Given the description of an element on the screen output the (x, y) to click on. 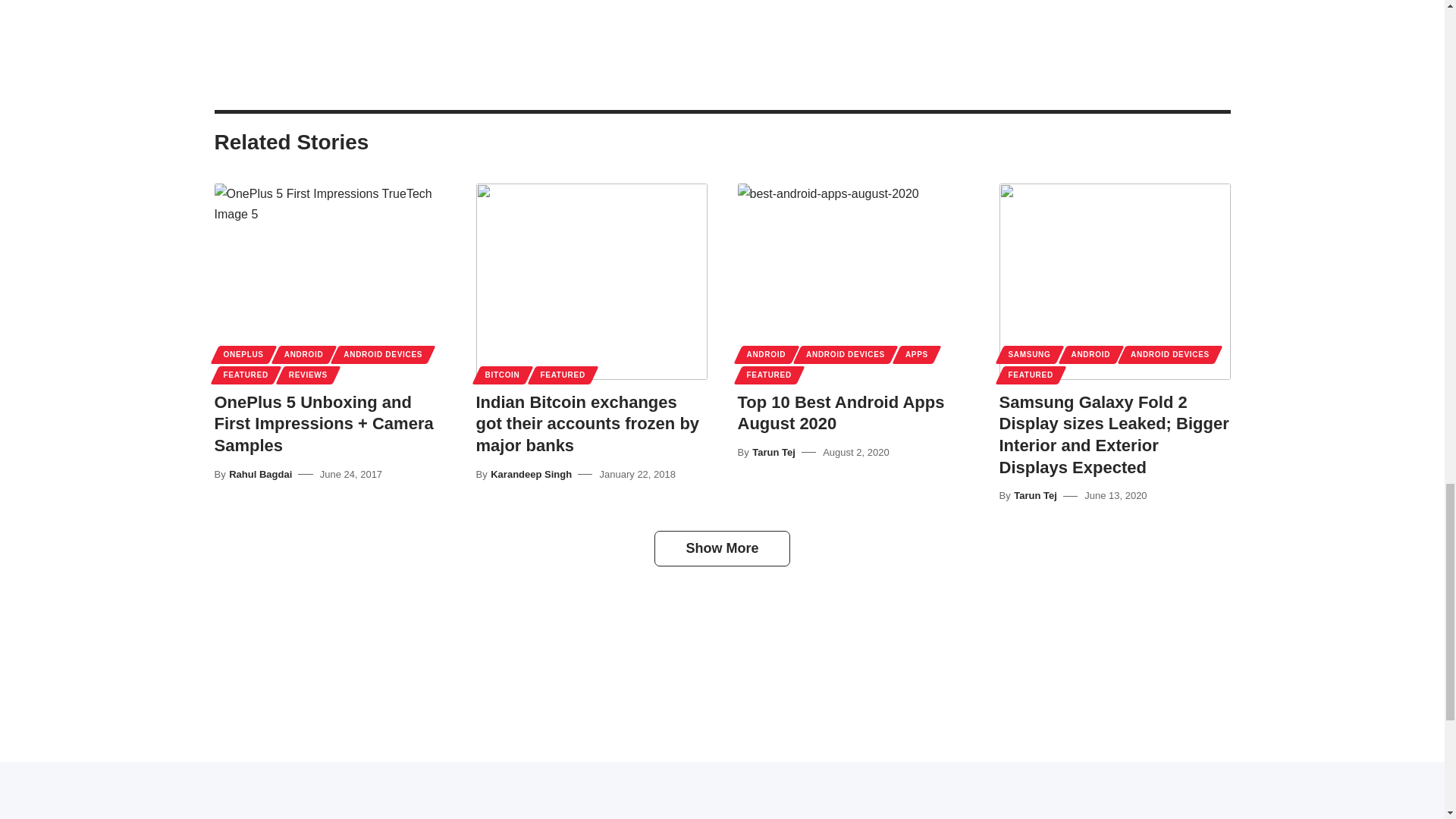
Top 10 Best Android Apps August 2020 (852, 281)
